Given the description of an element on the screen output the (x, y) to click on. 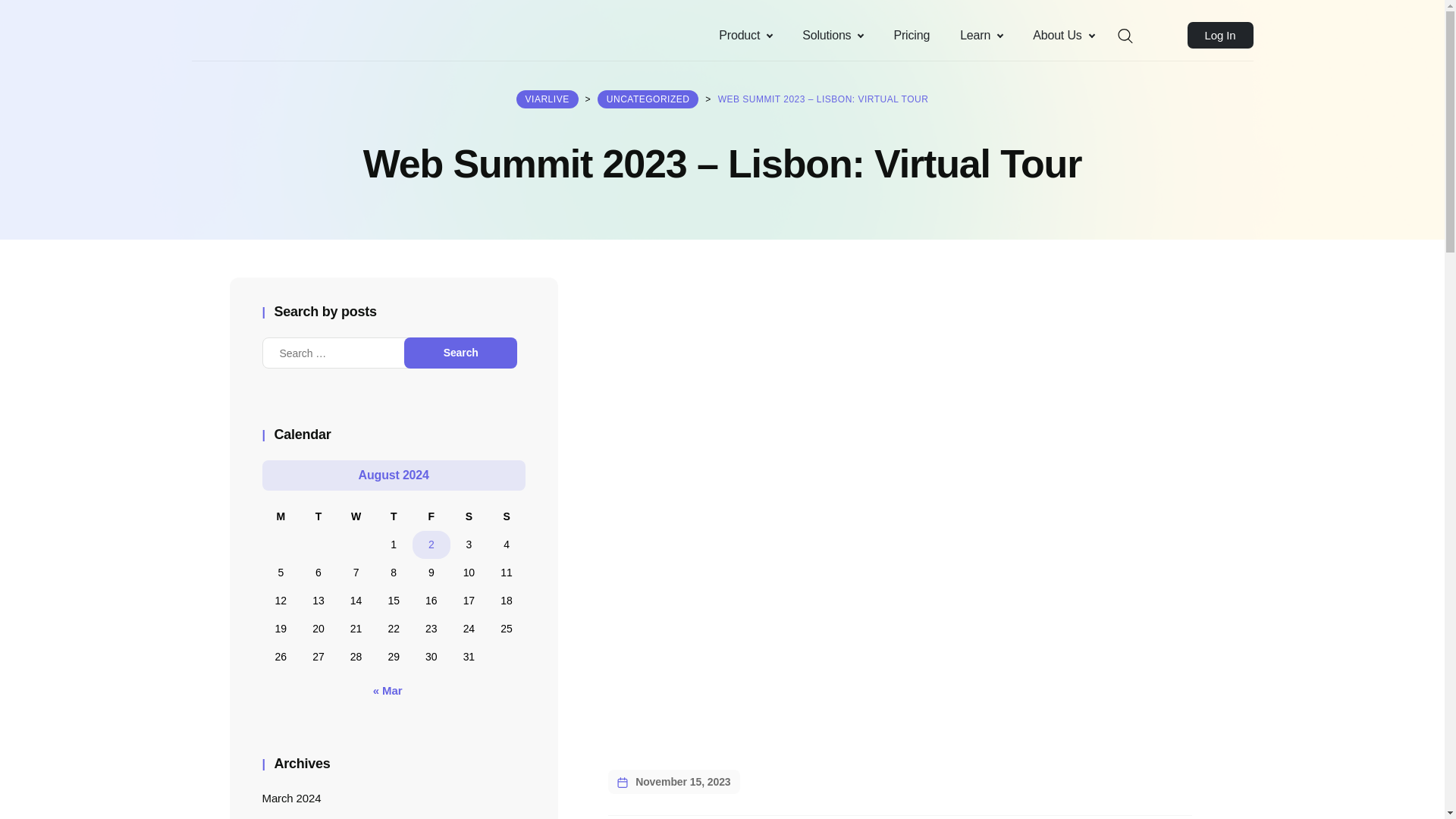
Search (460, 352)
March 2024 (291, 797)
Thursday (393, 516)
Search (460, 352)
UNCATEGORIZED (647, 99)
About Us (1062, 34)
Go to ViarLive. (547, 99)
Monday (280, 516)
Go to the Uncategorized Category archives. (647, 99)
Learn (980, 34)
Search for: (346, 352)
Sunday (506, 516)
Tuesday (318, 516)
Friday (430, 516)
Search (16, 16)
